Given the description of an element on the screen output the (x, y) to click on. 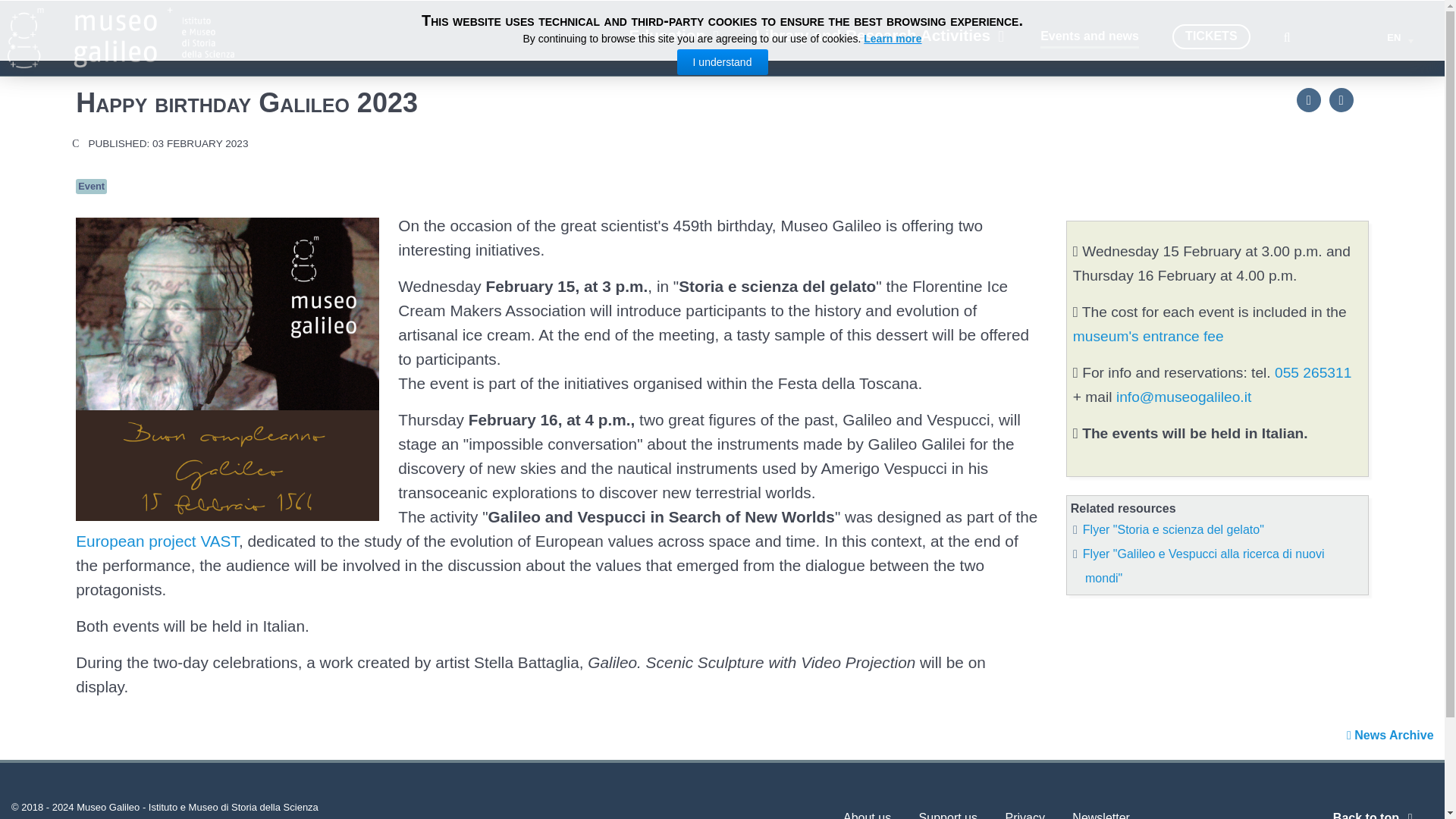
Support us (947, 812)
About us (867, 812)
Privacy (1023, 812)
Newsletter (1100, 812)
Back to top (1375, 815)
Facebook (1308, 100)
Twitter (1341, 100)
Events and news (1089, 37)
